Given the description of an element on the screen output the (x, y) to click on. 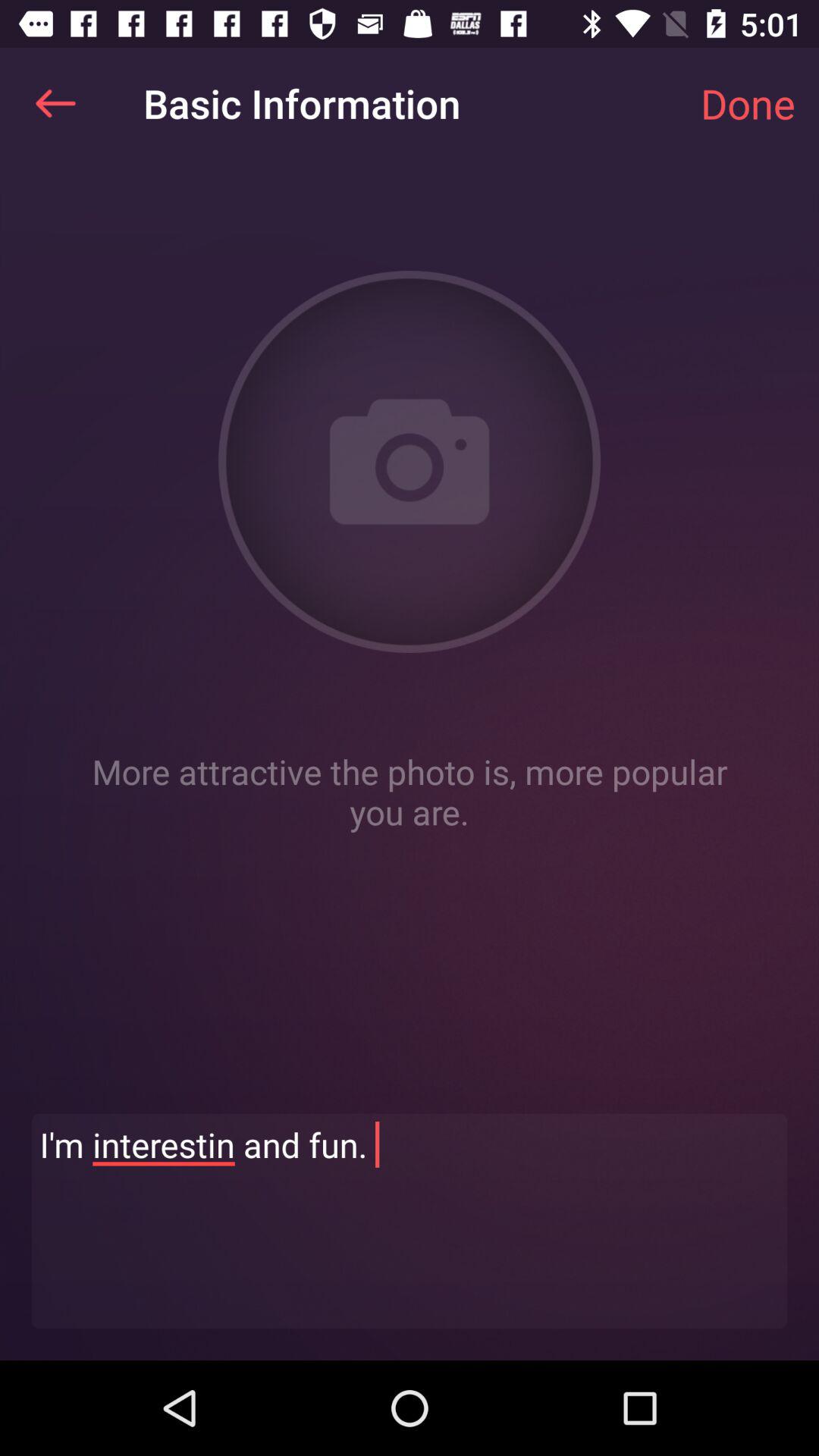
go back (55, 103)
